Given the description of an element on the screen output the (x, y) to click on. 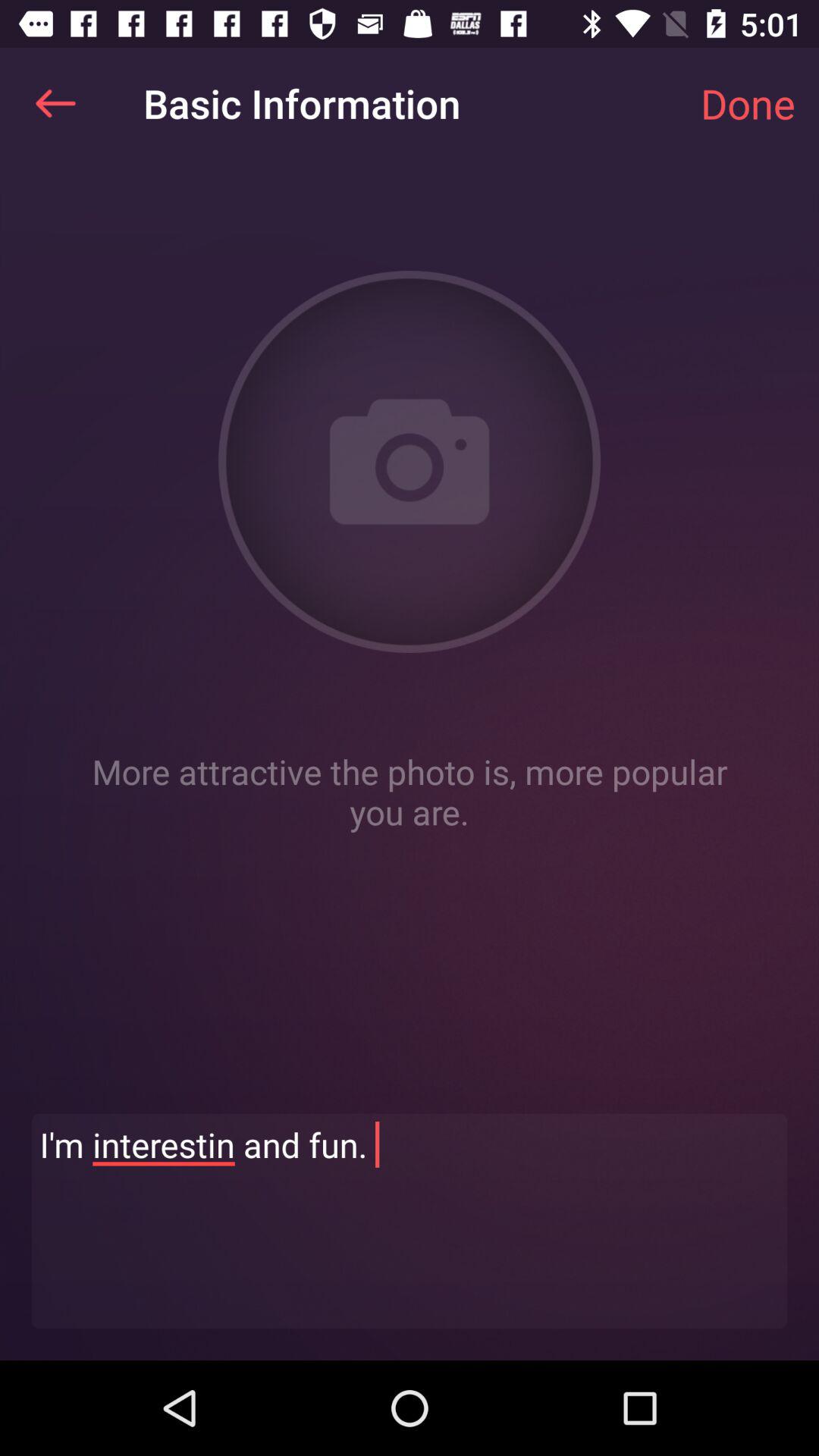
go back (55, 103)
